Given the description of an element on the screen output the (x, y) to click on. 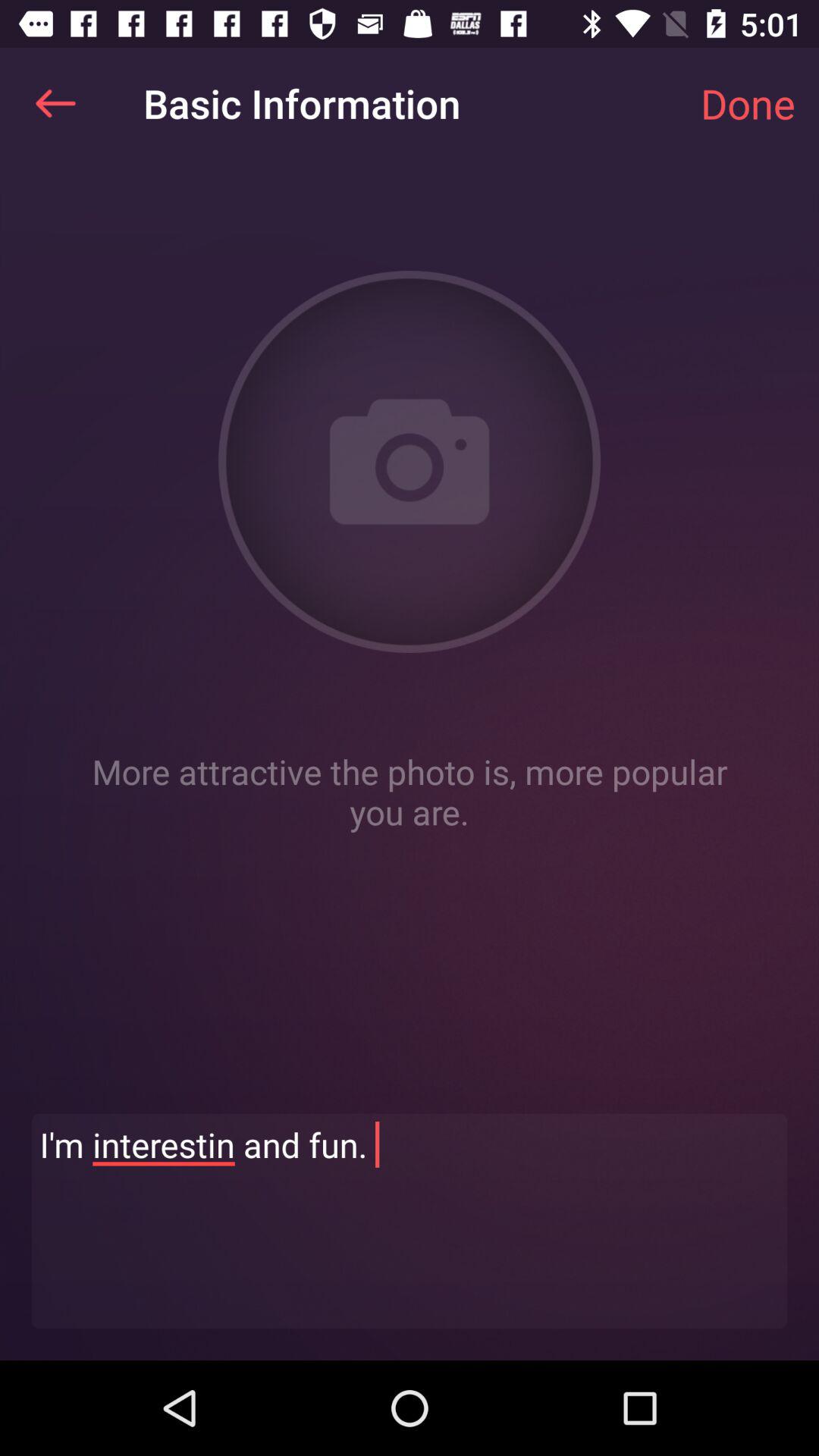
go back (55, 103)
